Given the description of an element on the screen output the (x, y) to click on. 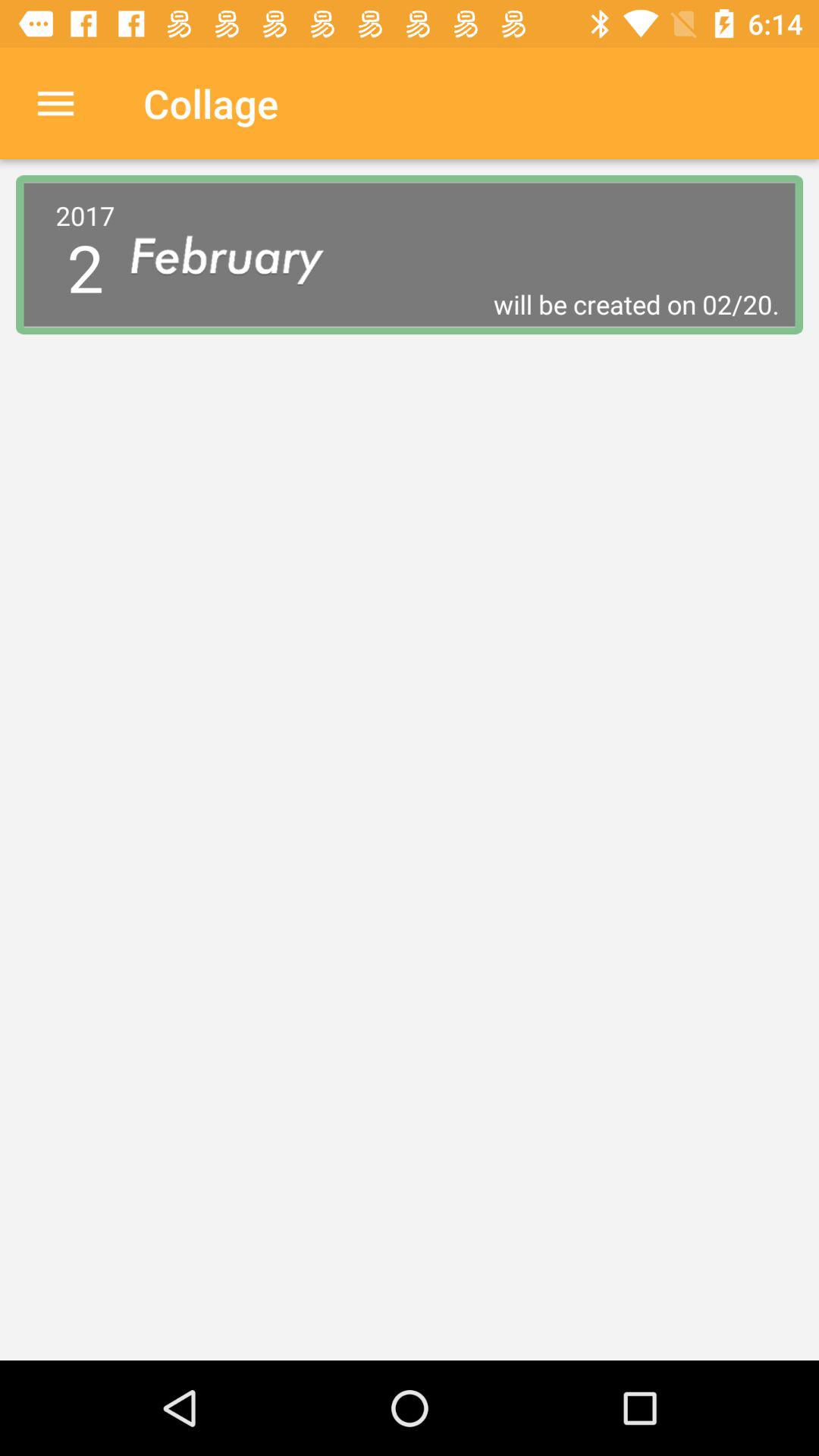
swipe to will be created icon (454, 303)
